Given the description of an element on the screen output the (x, y) to click on. 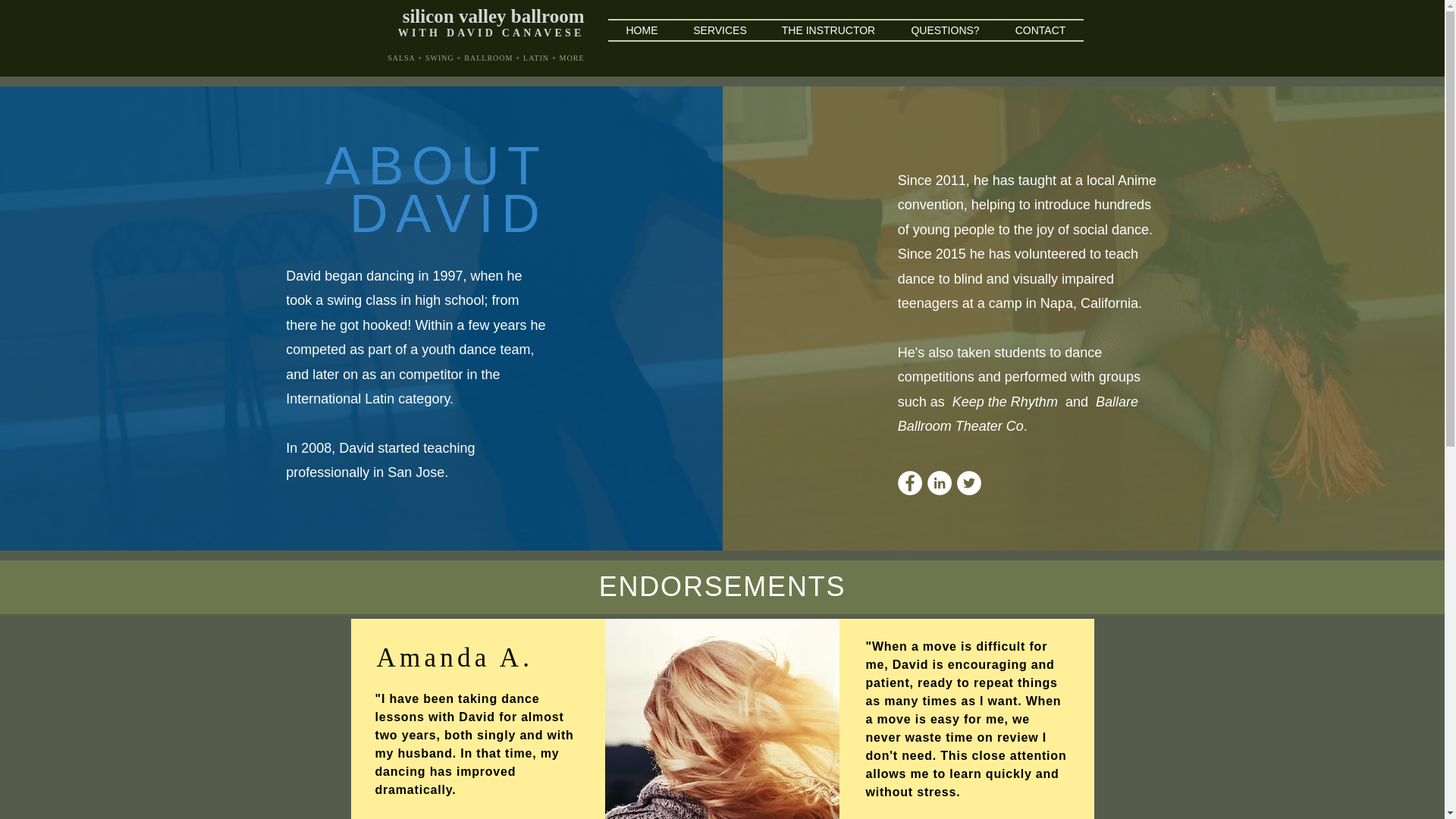
QUESTIONS? (945, 30)
CONTACT (1040, 30)
HOME (642, 30)
